Given the description of an element on the screen output the (x, y) to click on. 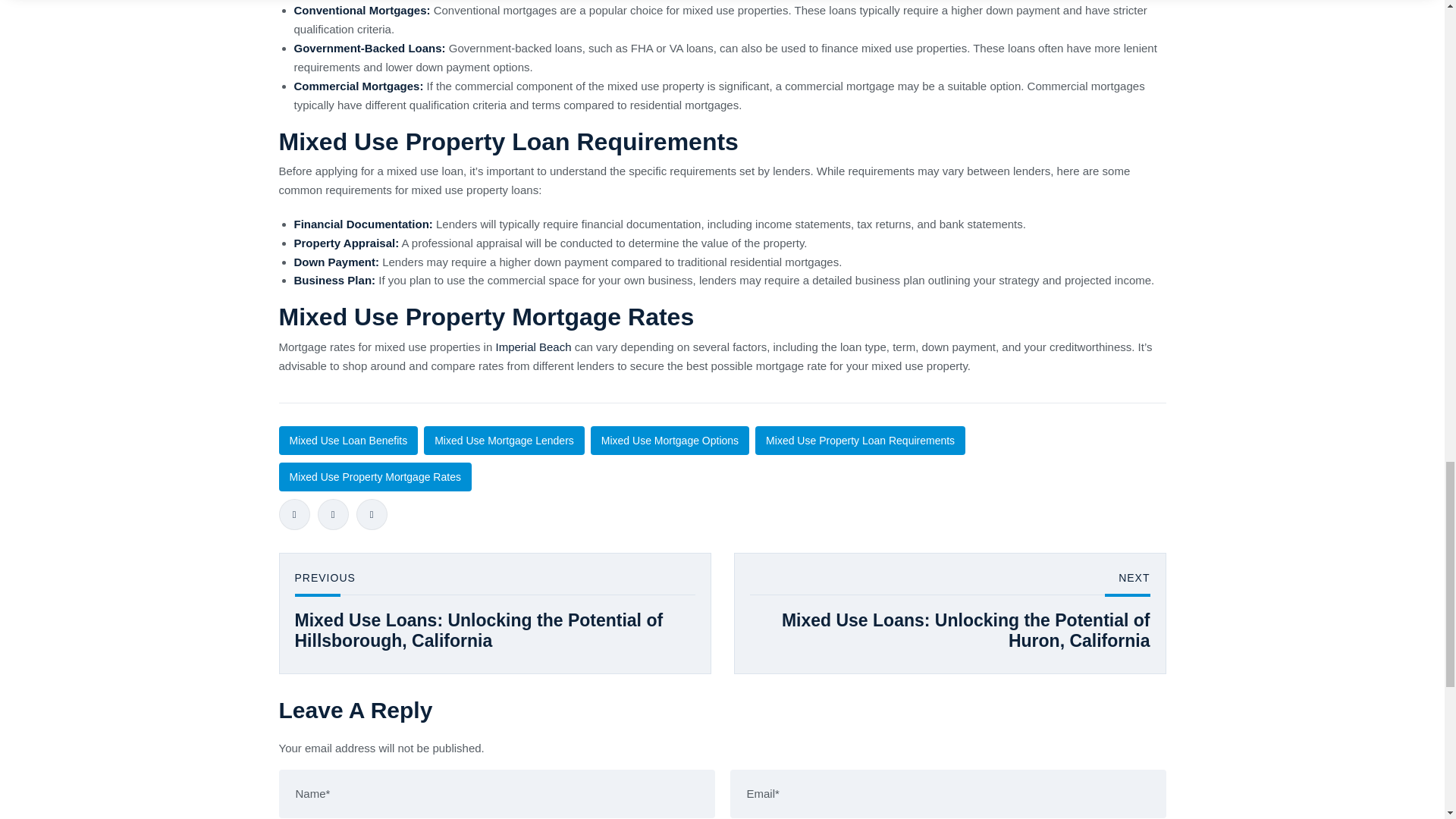
Twitter (332, 513)
Linkedin (371, 513)
Facebook (294, 513)
